Given the description of an element on the screen output the (x, y) to click on. 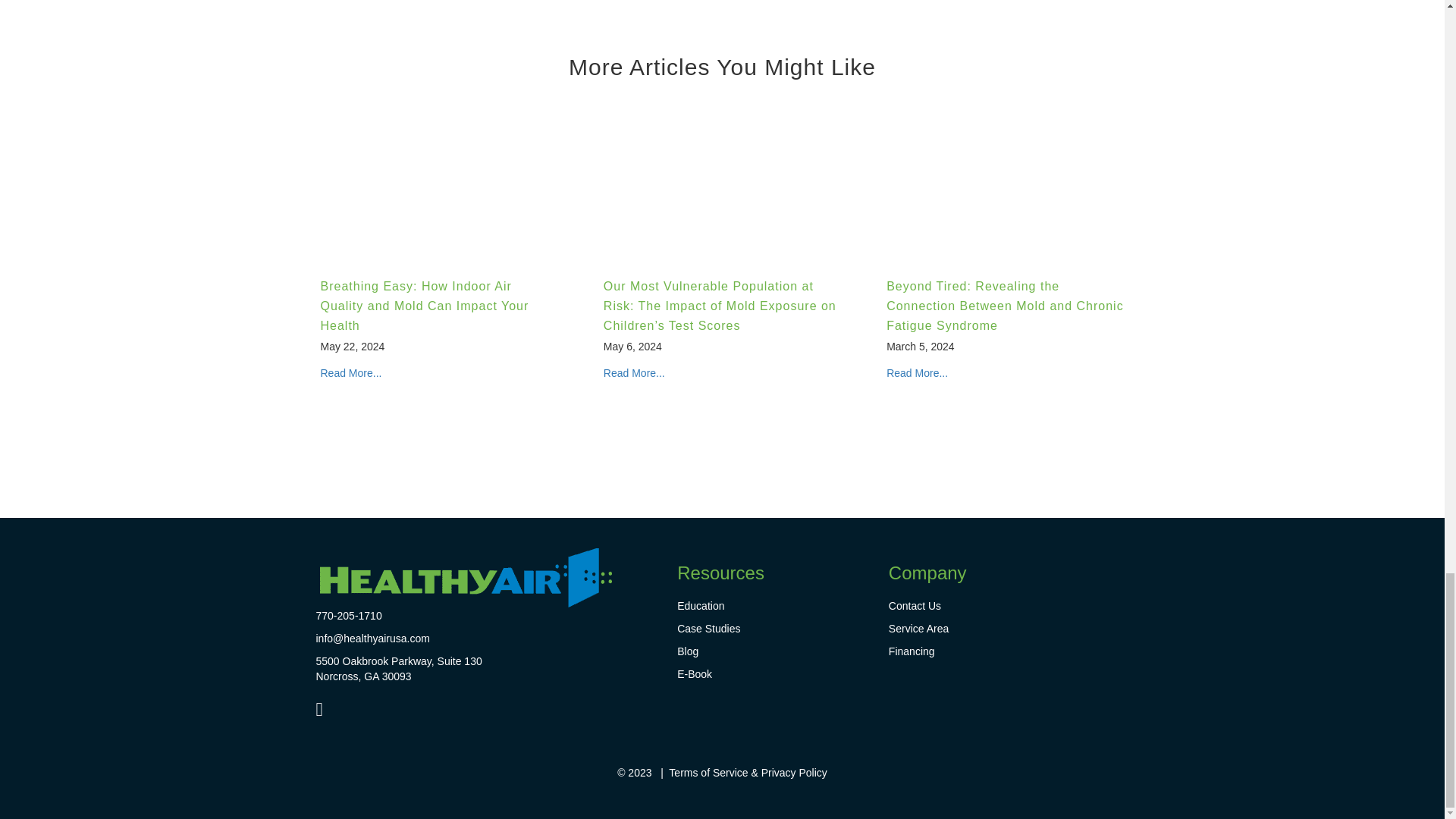
Read More... (634, 372)
healthyair-logo (464, 578)
Read More... (916, 372)
Read More... (350, 372)
